Given the description of an element on the screen output the (x, y) to click on. 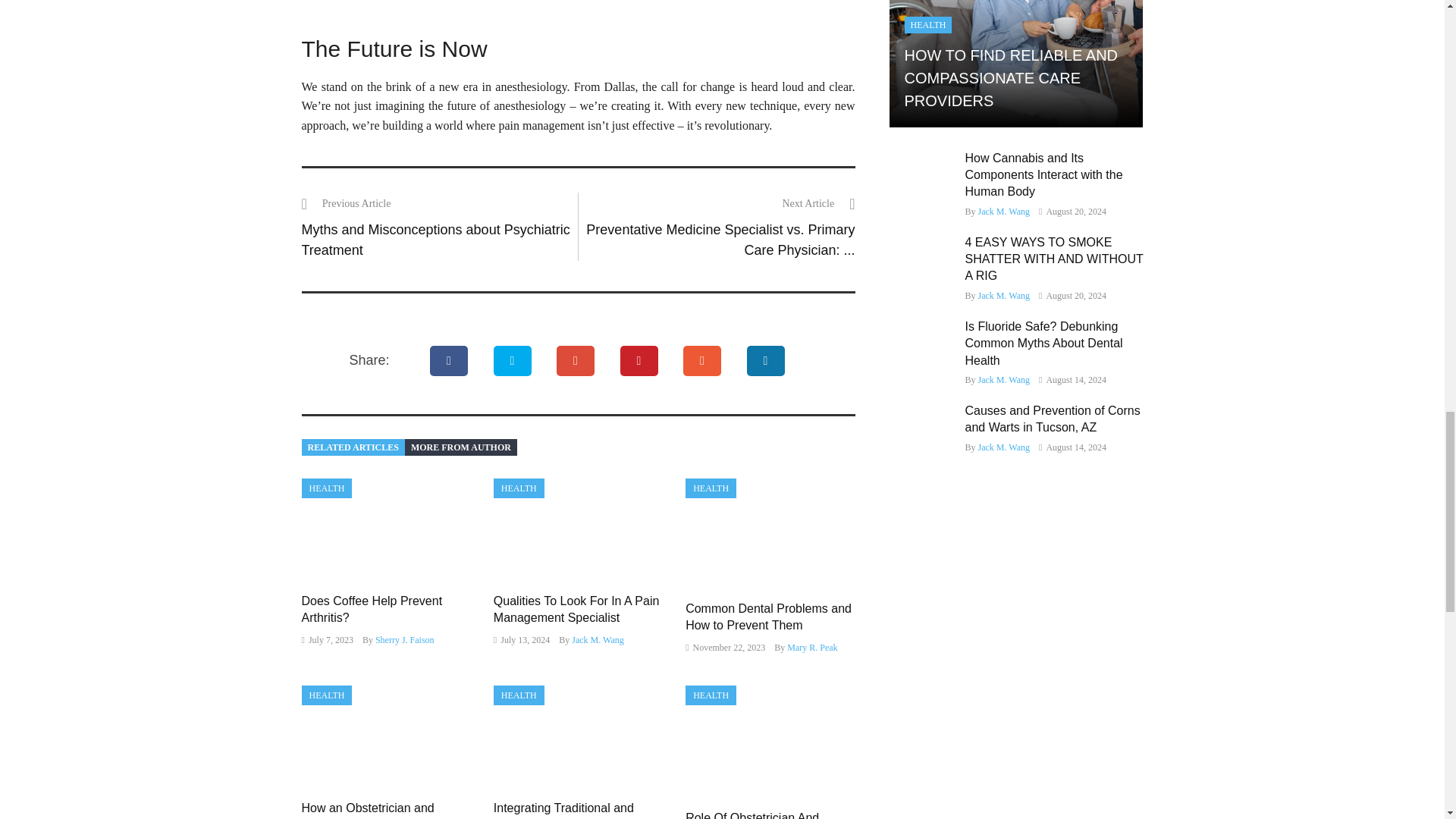
Myths and Misconceptions about Psychiatric Treatment (435, 239)
RELATED ARTICLES (352, 446)
